Given the description of an element on the screen output the (x, y) to click on. 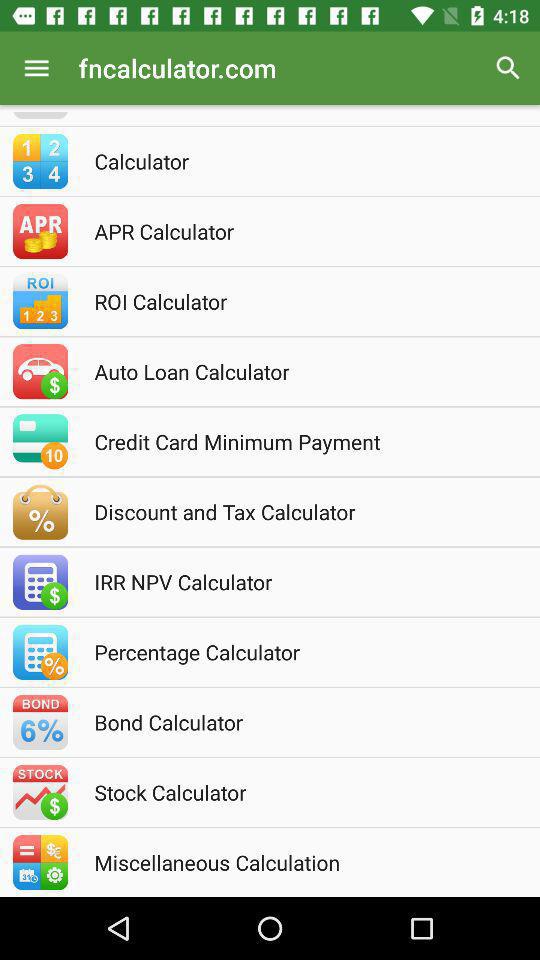
tap stock calculator icon (297, 792)
